Given the description of an element on the screen output the (x, y) to click on. 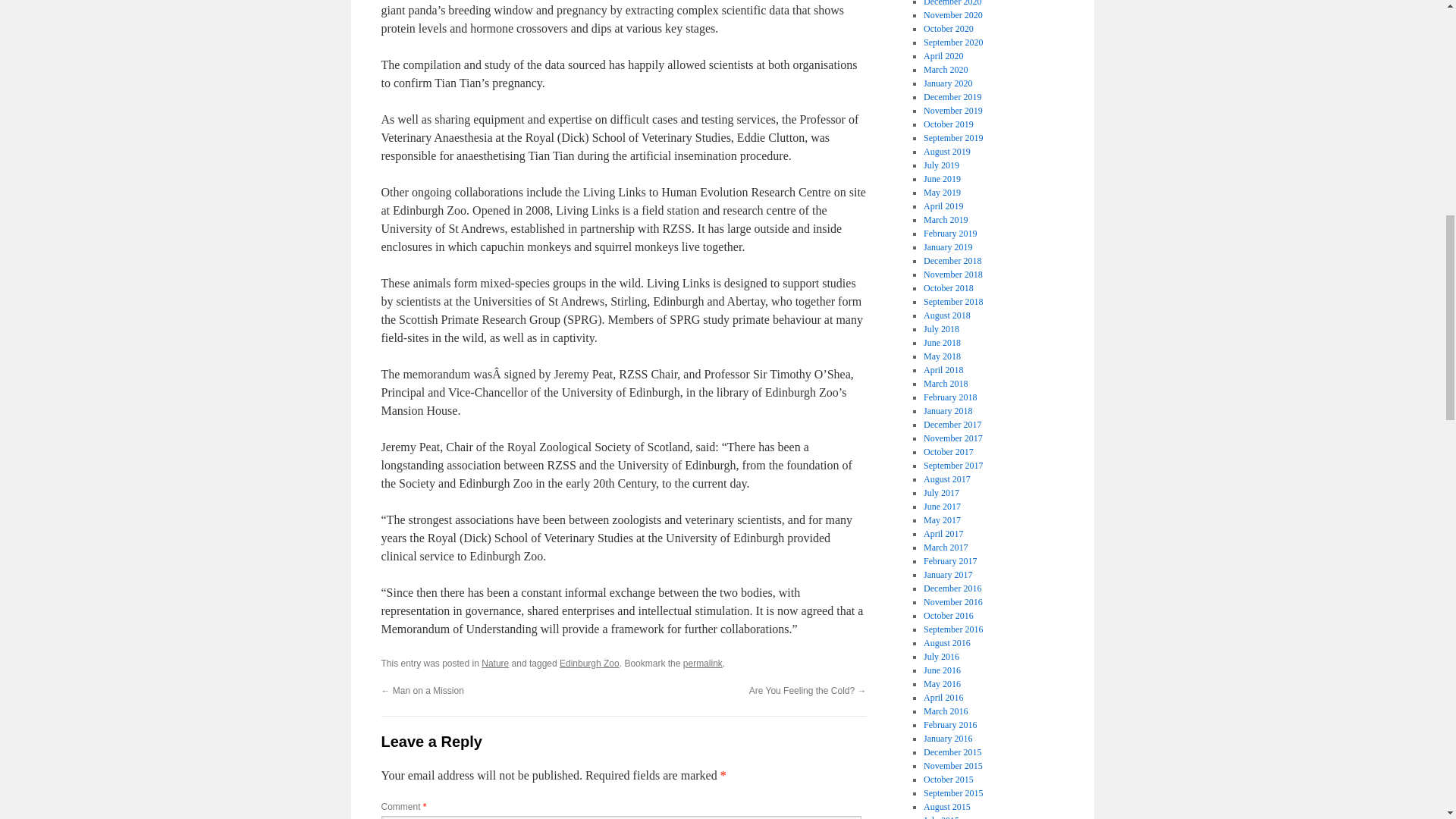
Permalink to Further Collaboration on Research at Edinburgh (702, 663)
Edinburgh Zoo (589, 663)
Nature (494, 663)
permalink (702, 663)
